Given the description of an element on the screen output the (x, y) to click on. 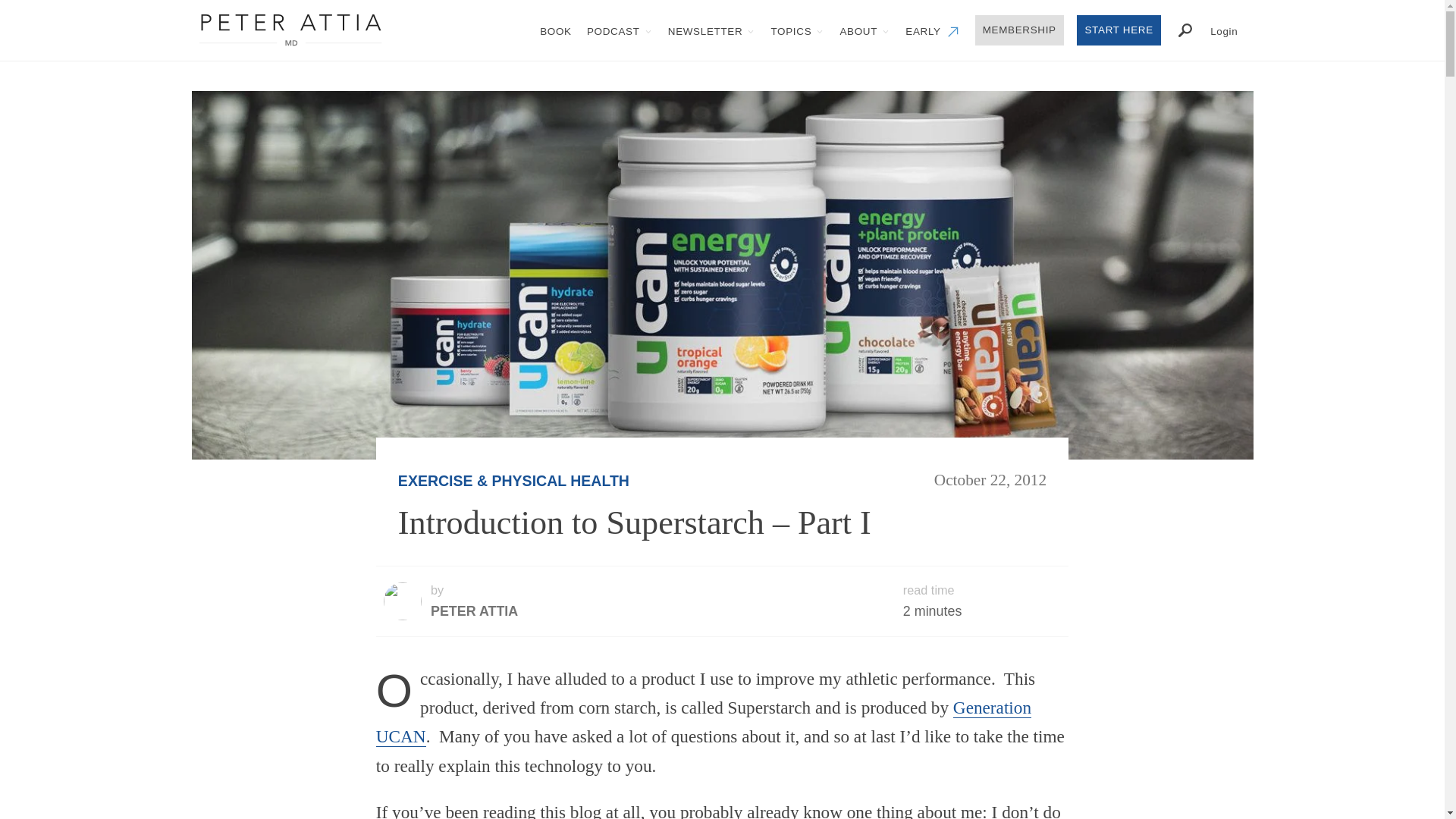
PETER ATTIA (474, 611)
START HERE (1118, 30)
MEMBERSHIP (1019, 30)
EARLY (933, 30)
Peter Attia (289, 30)
Generation UCAN (702, 721)
ABOUT (864, 30)
Start Here (1118, 30)
PODCAST (620, 30)
NEWSLETTER (711, 30)
TOPICS (796, 30)
